Given the description of an element on the screen output the (x, y) to click on. 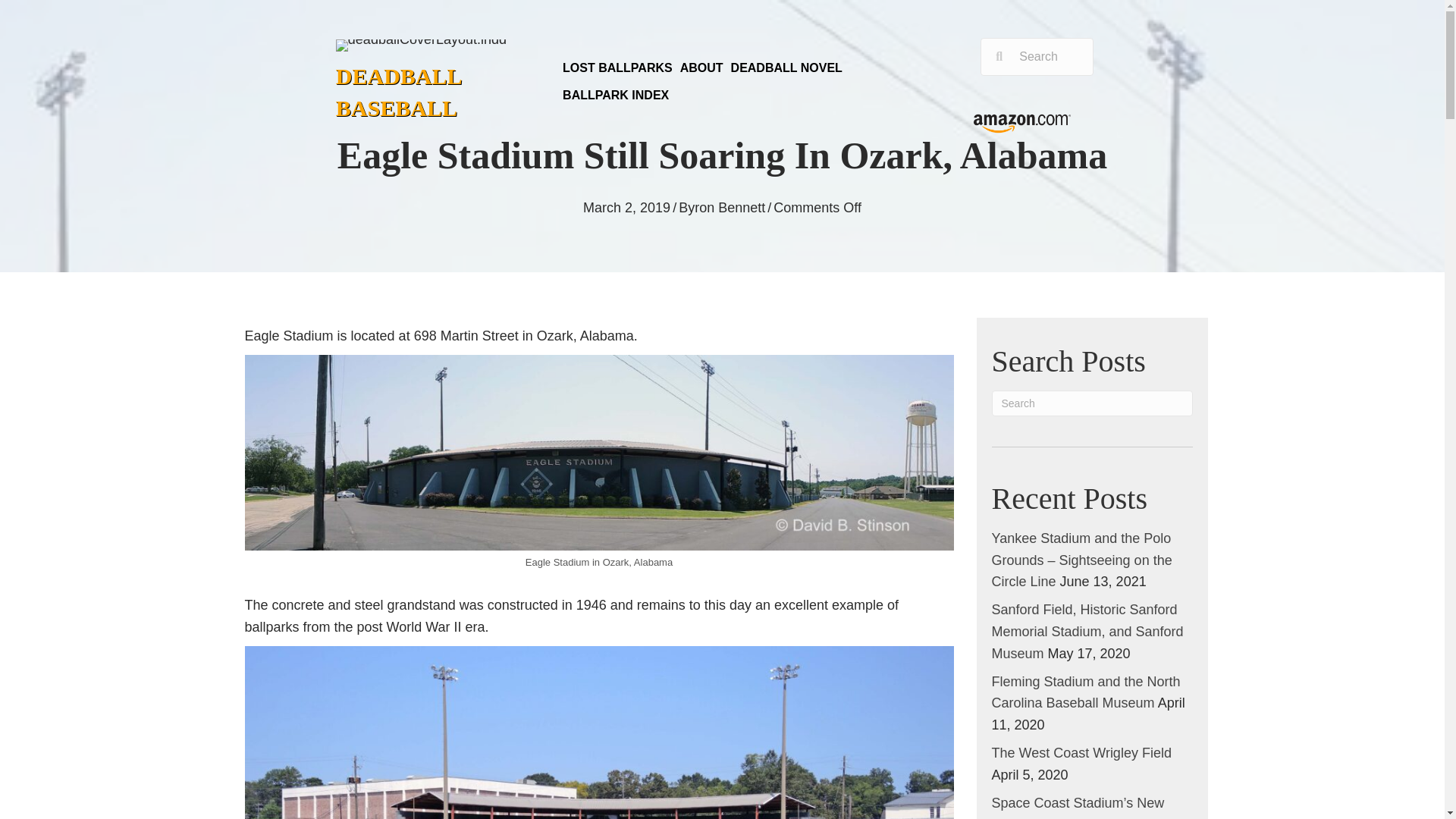
DEADBALL BASEBALL (398, 91)
Type and press Enter to search. (1091, 403)
The West Coast Wrigley Field (1081, 752)
DEADBALL NOVEL (785, 67)
Byron Bennett (721, 207)
ABOUT (701, 67)
amazon logo (1021, 123)
Fleming Stadium and the North Carolina Baseball Museum (1085, 692)
deadballCoverLayout.indd (421, 45)
BALLPARK INDEX (615, 94)
LOST BALLPARKS (618, 67)
